Given the description of an element on the screen output the (x, y) to click on. 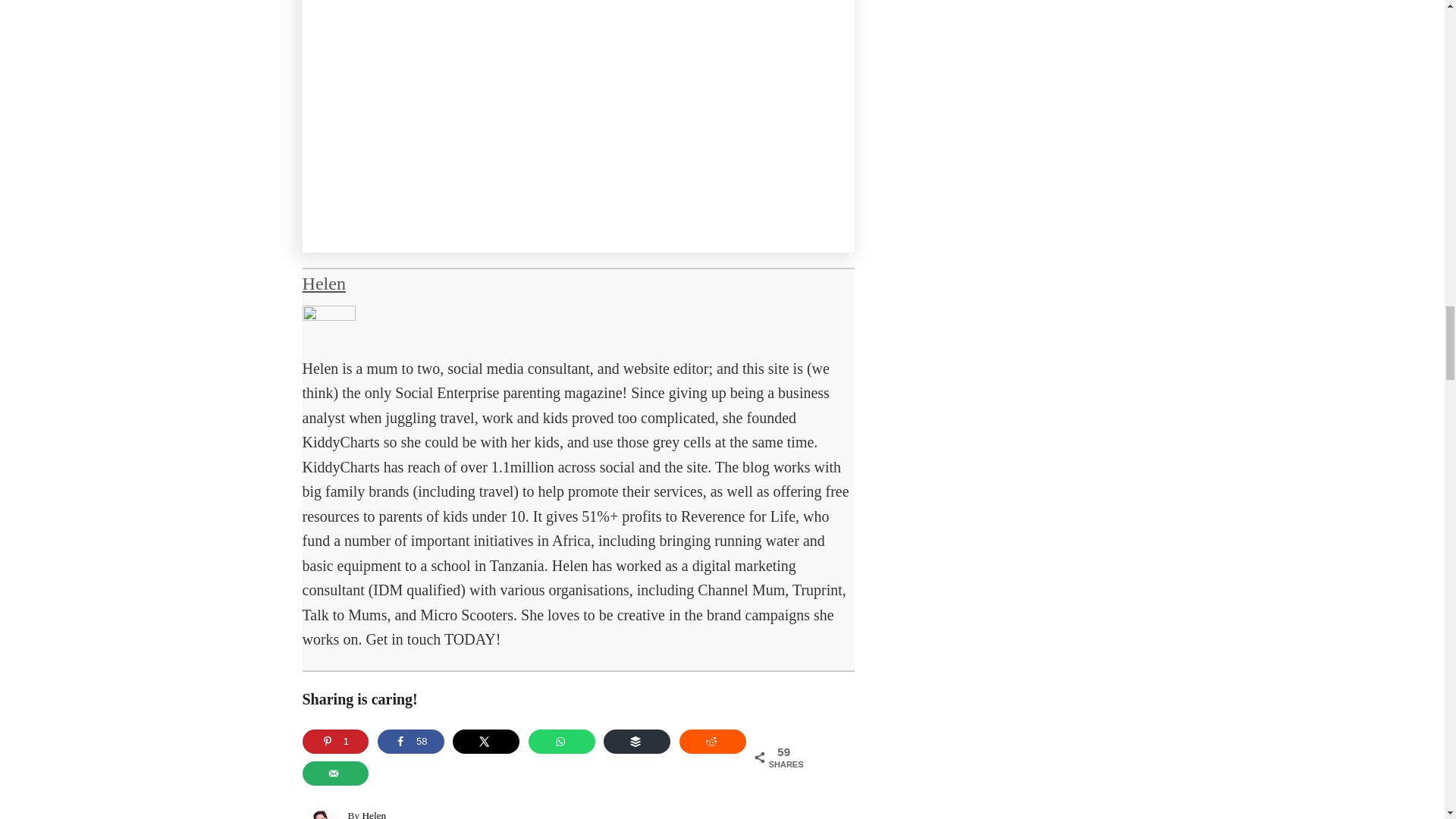
All posts by Helen (323, 283)
Save to Pinterest (334, 741)
Share on Buffer (636, 741)
Share on Facebook (410, 741)
Send over email (334, 773)
Share on X (485, 741)
Share on WhatsApp (561, 741)
Share on Reddit (712, 741)
